Given the description of an element on the screen output the (x, y) to click on. 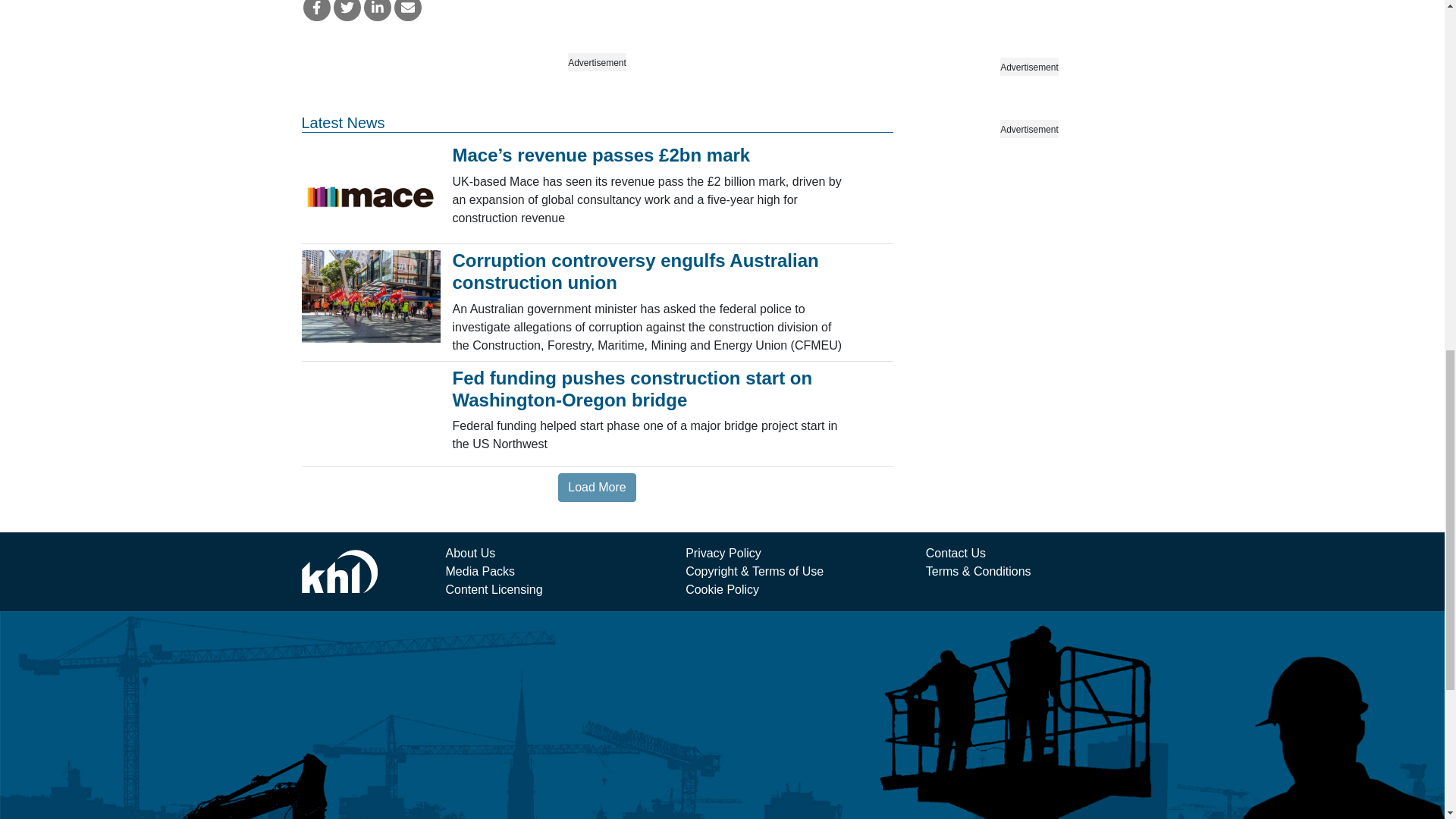
Share this page on Twitter (347, 10)
Share this page on Linkedin (377, 10)
Share this page on Facebook (316, 10)
Share this page via email (408, 10)
